Given the description of an element on the screen output the (x, y) to click on. 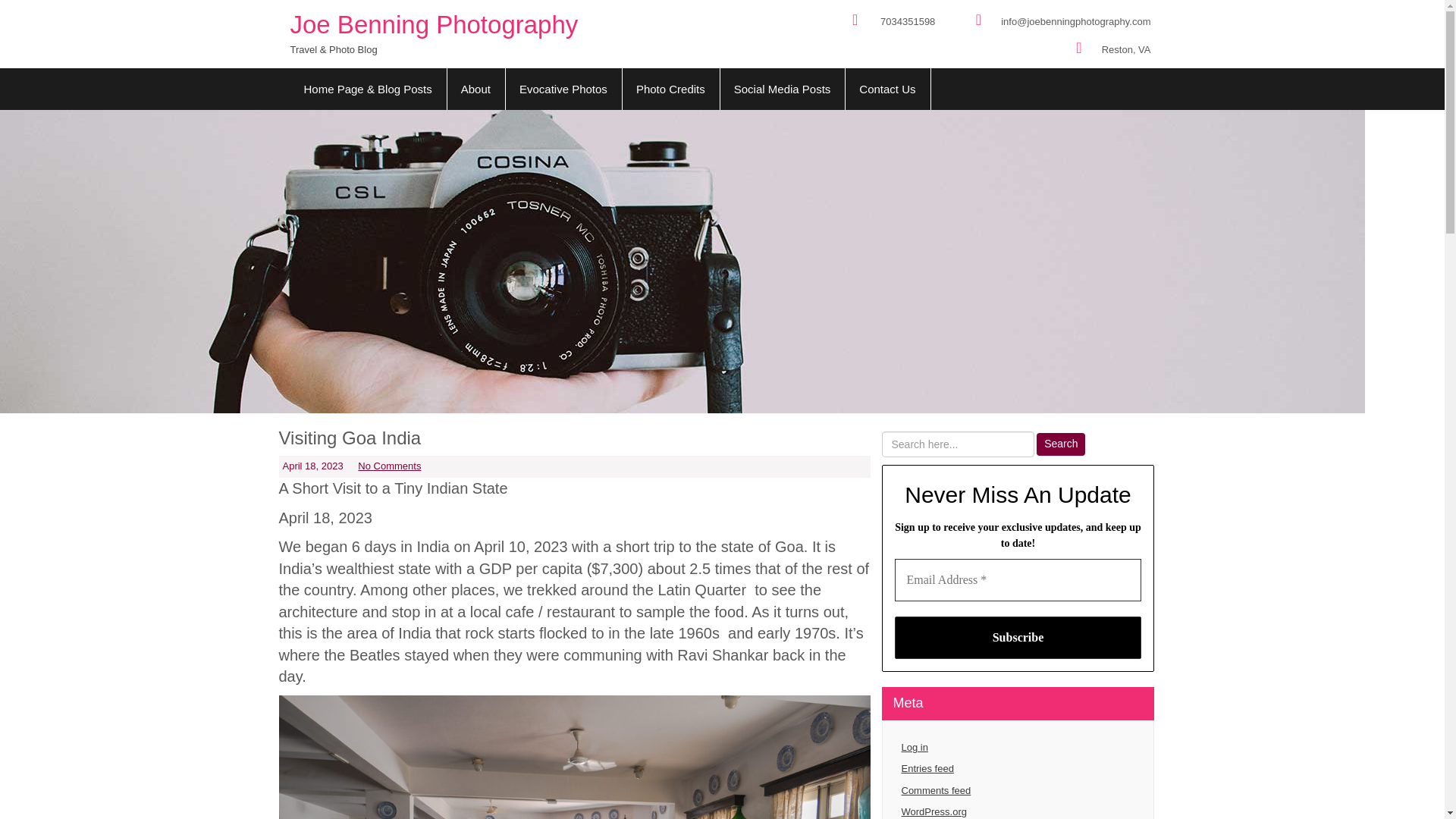
Comments feed (1018, 791)
Entries feed (1018, 769)
Joe Benning Photography (433, 24)
Email Address (1018, 579)
About (475, 88)
Subscribe (1018, 637)
Social Media Posts (782, 88)
Subscribe (1018, 637)
7034351598 (907, 21)
Log in (1018, 748)
Evocative Photos (564, 88)
Photo Credits (670, 88)
No Comments (389, 465)
Contact Us (887, 88)
Search (1060, 444)
